Given the description of an element on the screen output the (x, y) to click on. 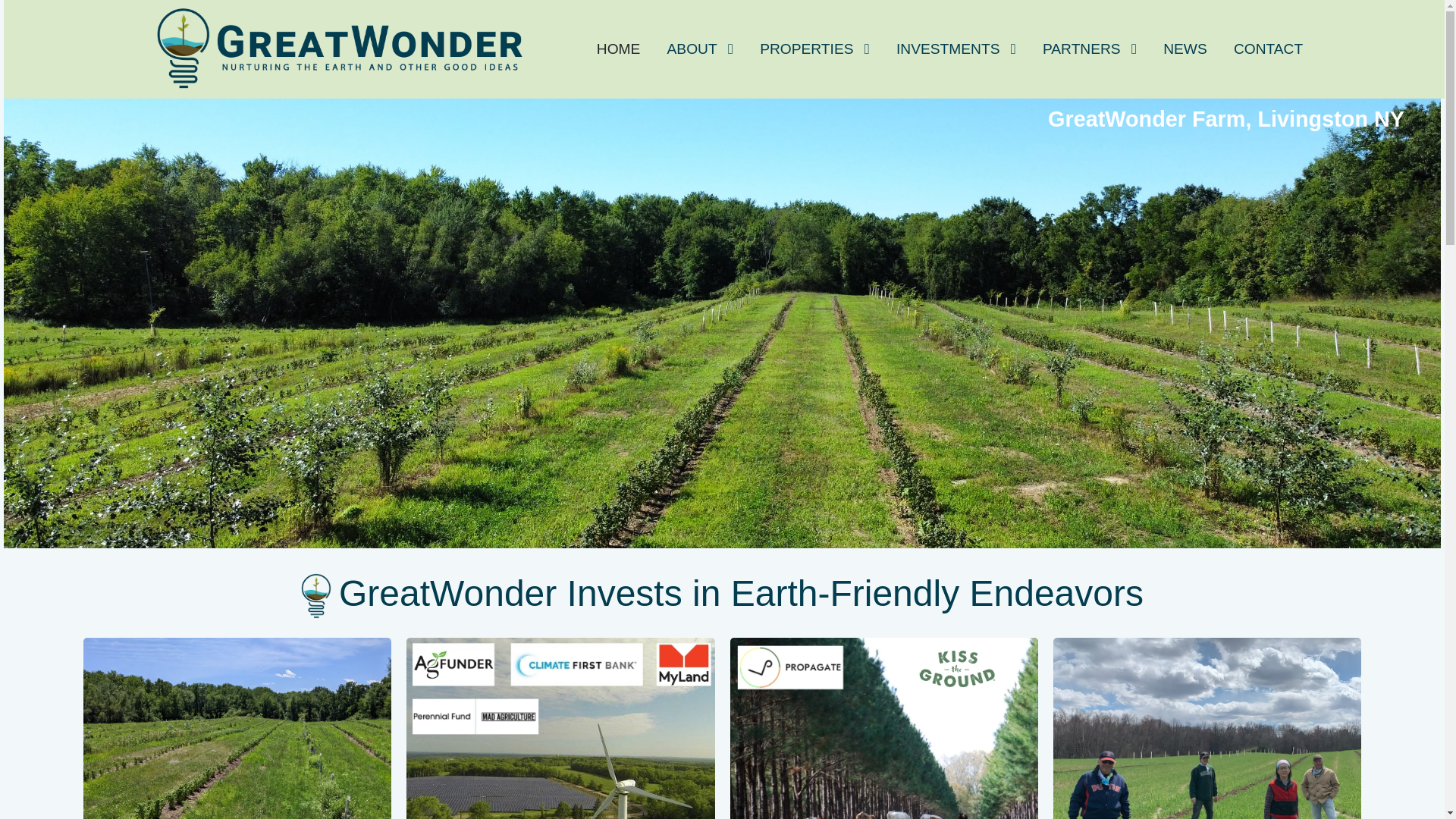
GreatWonder (334, 47)
INVESTMENTS (955, 49)
HOME (617, 49)
ABOUT (700, 49)
PARTNERS (1089, 49)
PROPERTIES (814, 49)
